Given the description of an element on the screen output the (x, y) to click on. 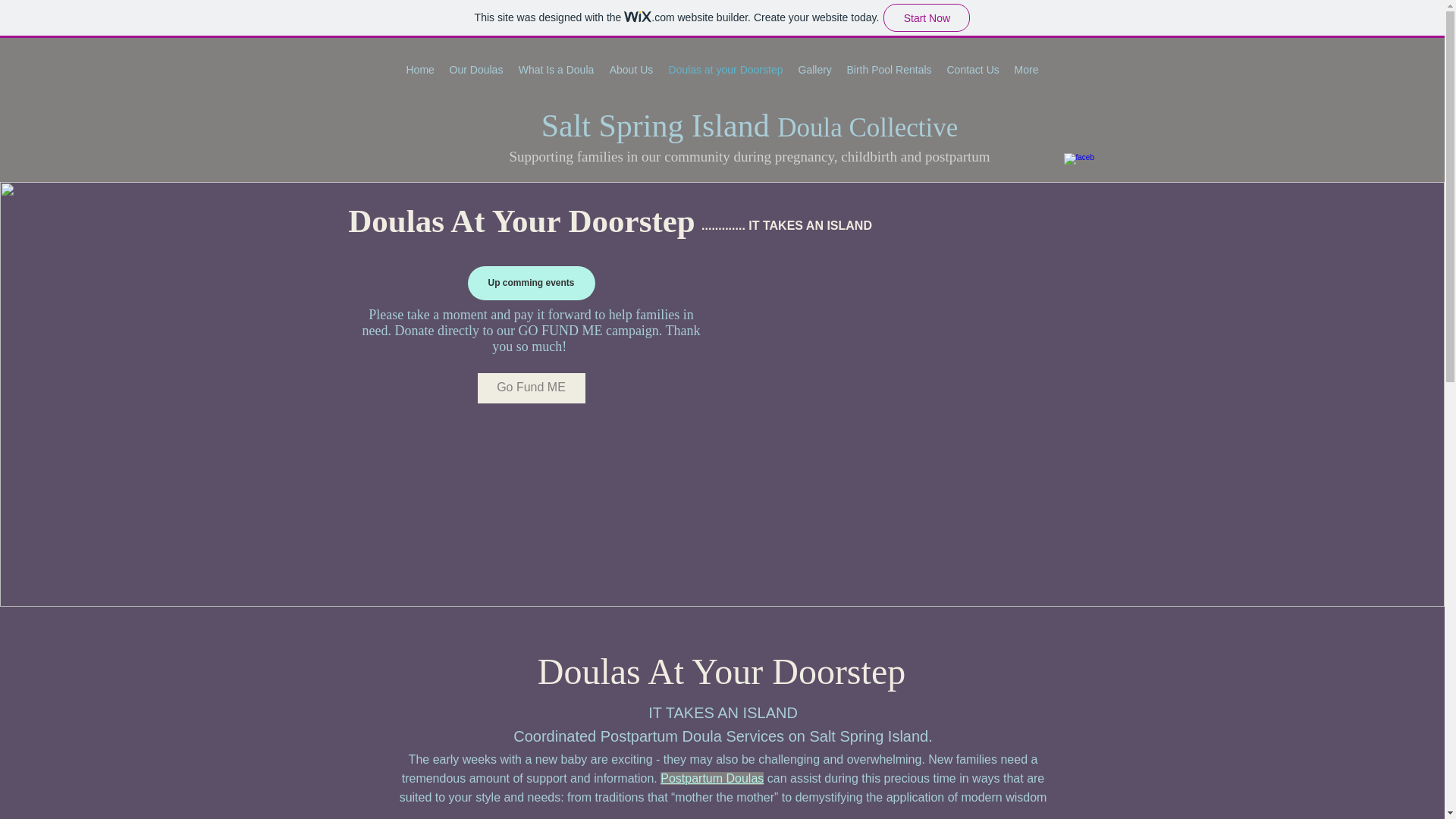
Home (420, 69)
Our Doulas (476, 69)
Postpartum Doulas (711, 778)
Gallery (814, 69)
Up comming events (530, 283)
Go Fund ME (531, 388)
What Is a Doula (556, 69)
Doulas at your Doorstep (725, 69)
About Us (631, 69)
Contact Us (972, 69)
